Given the description of an element on the screen output the (x, y) to click on. 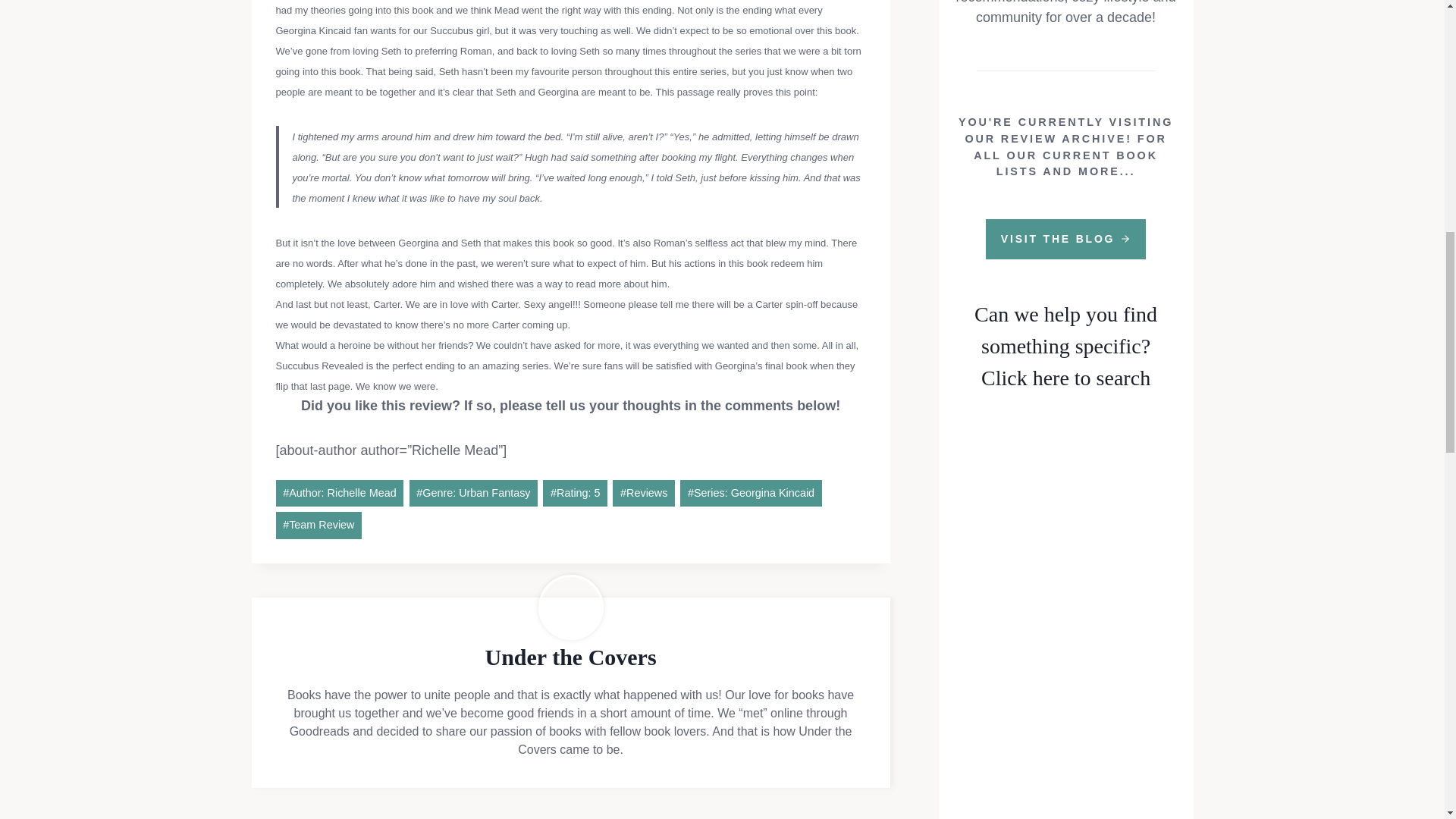
Posts by Under the Covers (570, 656)
Genre: Urban Fantasy (473, 492)
Author: Richelle Mead (340, 492)
Team Review (319, 524)
Reviews (643, 492)
Series: Georgina Kincaid (750, 492)
Under the Covers (570, 656)
Rating: 5 (575, 492)
